Given the description of an element on the screen output the (x, y) to click on. 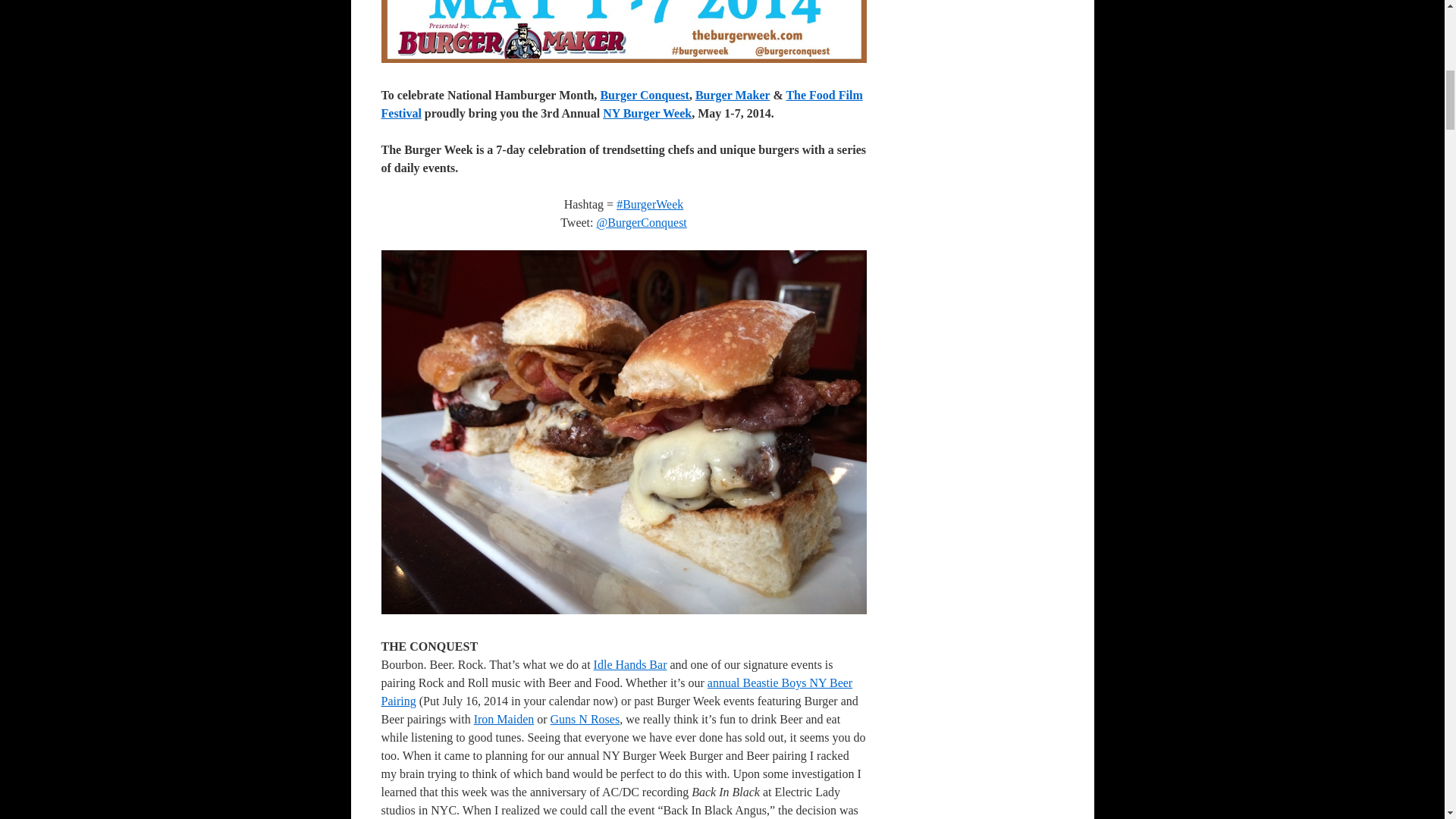
The Food Film Festival (620, 103)
Idle Hands Bar (630, 664)
Burger Maker (732, 94)
Iron Maiden (504, 718)
annual Beastie Boys NY Beer Pairing (615, 691)
NY Burger Week (646, 113)
Guns N Roses (585, 718)
Burger Conquest (643, 94)
